Given the description of an element on the screen output the (x, y) to click on. 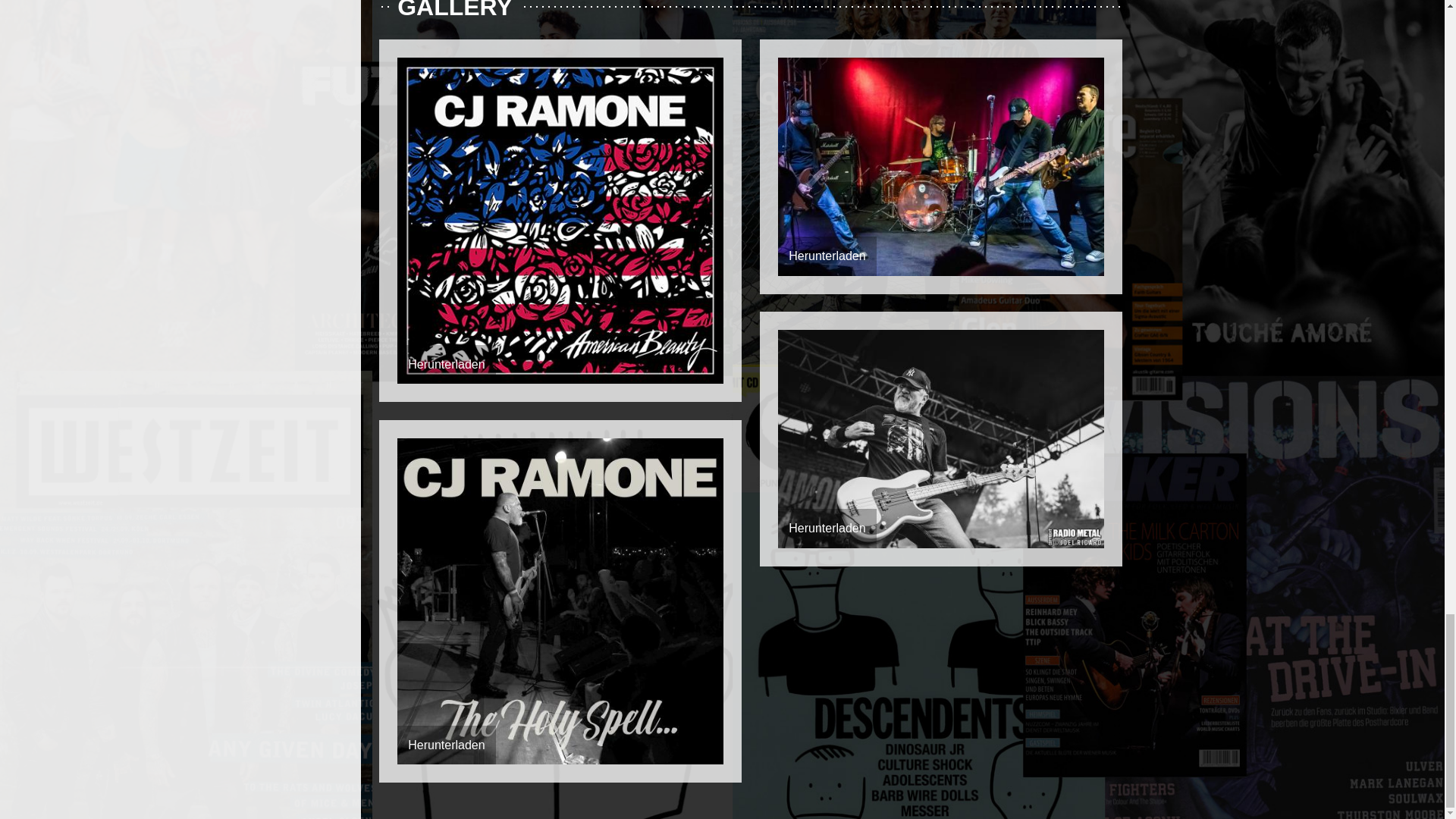
Herunterladen (445, 744)
Herunterladen (445, 364)
Herunterladen (826, 255)
Herunterladen (826, 527)
